Given the description of an element on the screen output the (x, y) to click on. 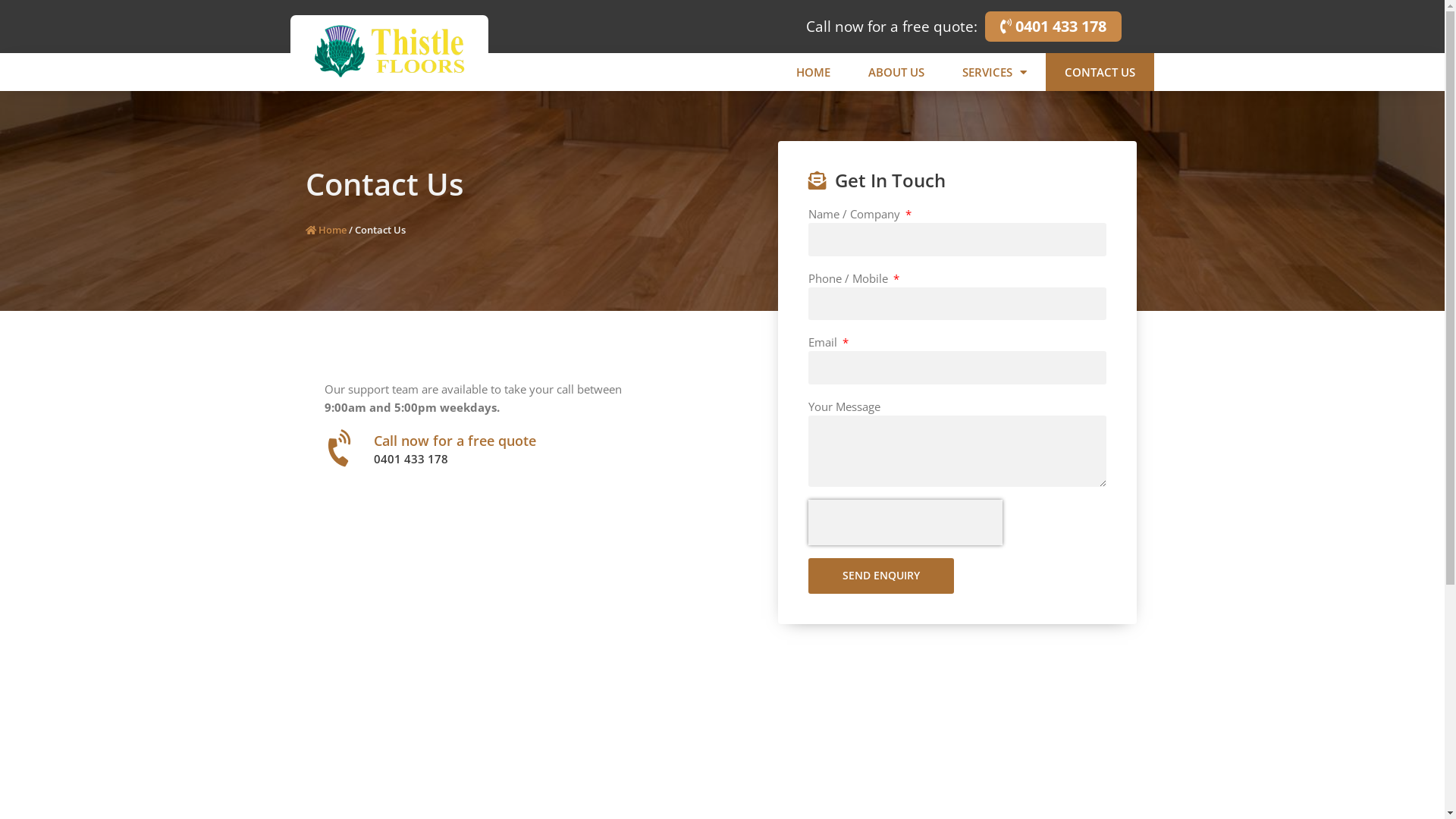
CONTACT US Element type: text (1099, 72)
reCAPTCHA Element type: hover (905, 521)
HOME Element type: text (813, 72)
Call now for a free quote: Element type: text (890, 26)
SERVICES Element type: text (994, 72)
0401 433 178 Element type: text (1052, 26)
Adelaide South Australia Element type: hover (721, 670)
ABOUT US Element type: text (896, 72)
SEND ENQUIRY Element type: text (880, 575)
Call now for a free quote Element type: text (454, 440)
Home Element type: text (324, 229)
